Given the description of an element on the screen output the (x, y) to click on. 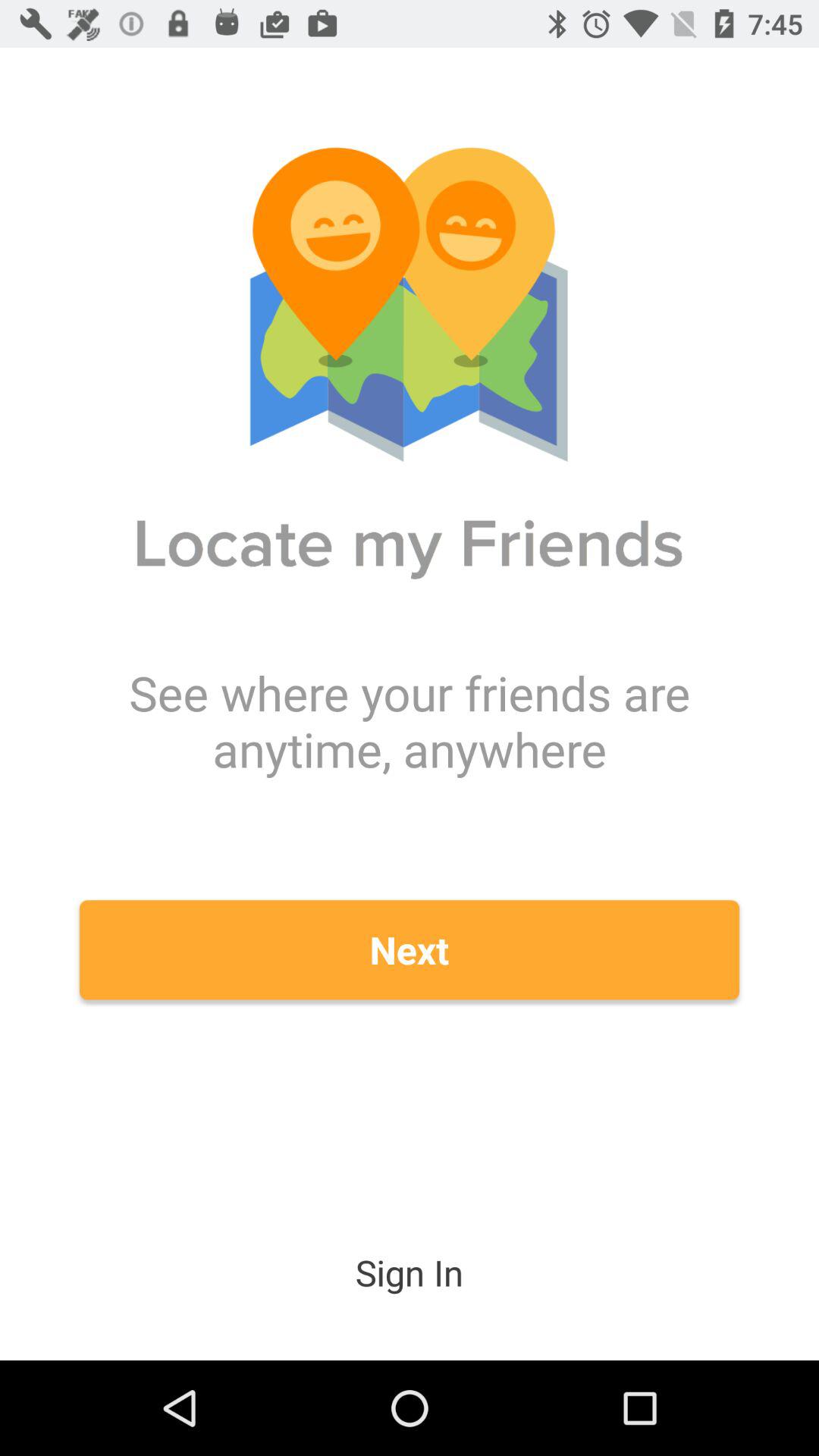
swipe until the next item (409, 949)
